Given the description of an element on the screen output the (x, y) to click on. 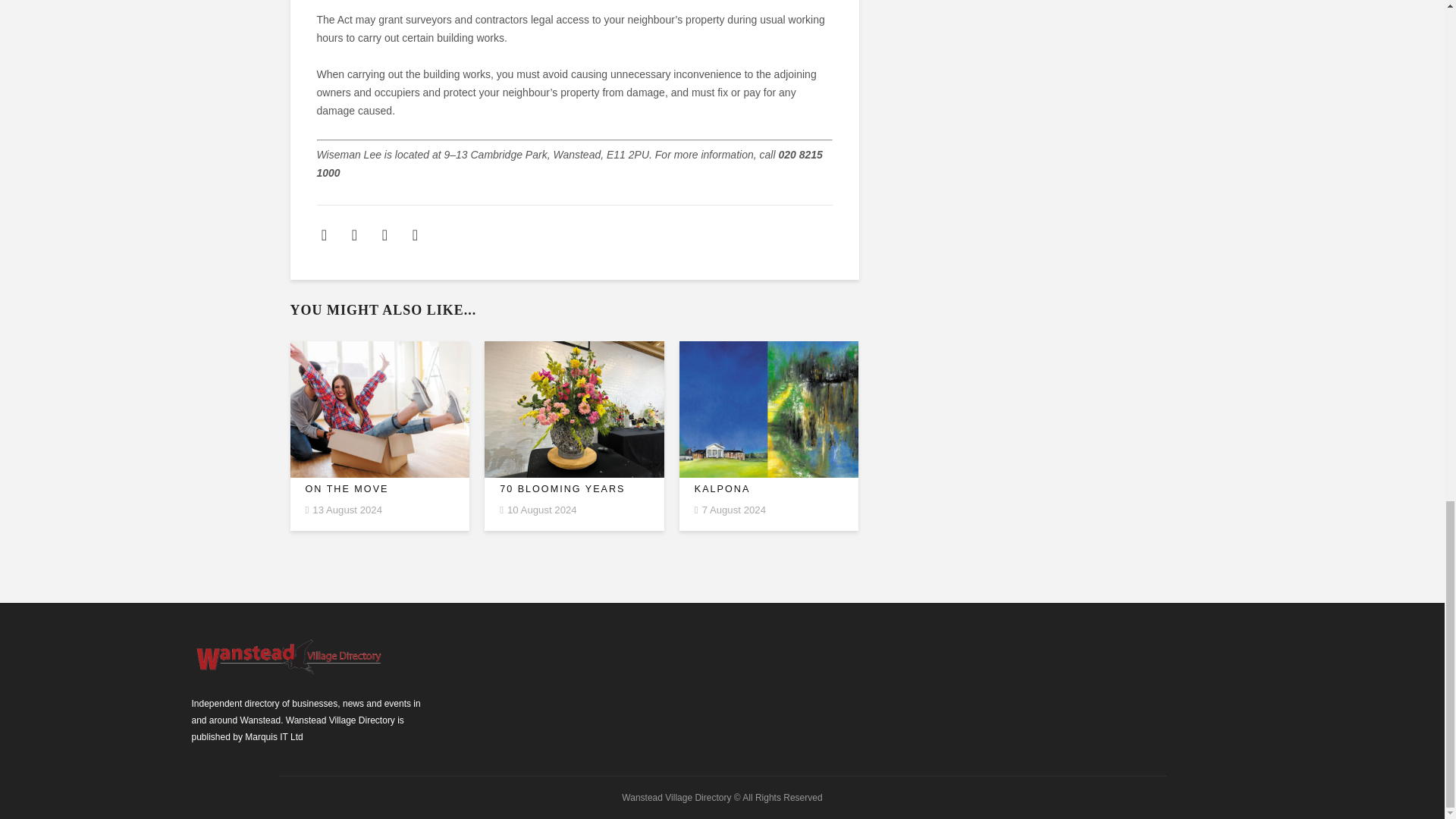
Adjoin the party (769, 409)
70 blooming years (574, 489)
Adjoin the party (573, 409)
Adjoin the party (378, 409)
On the Move (379, 489)
Kalpona (769, 489)
